Given the description of an element on the screen output the (x, y) to click on. 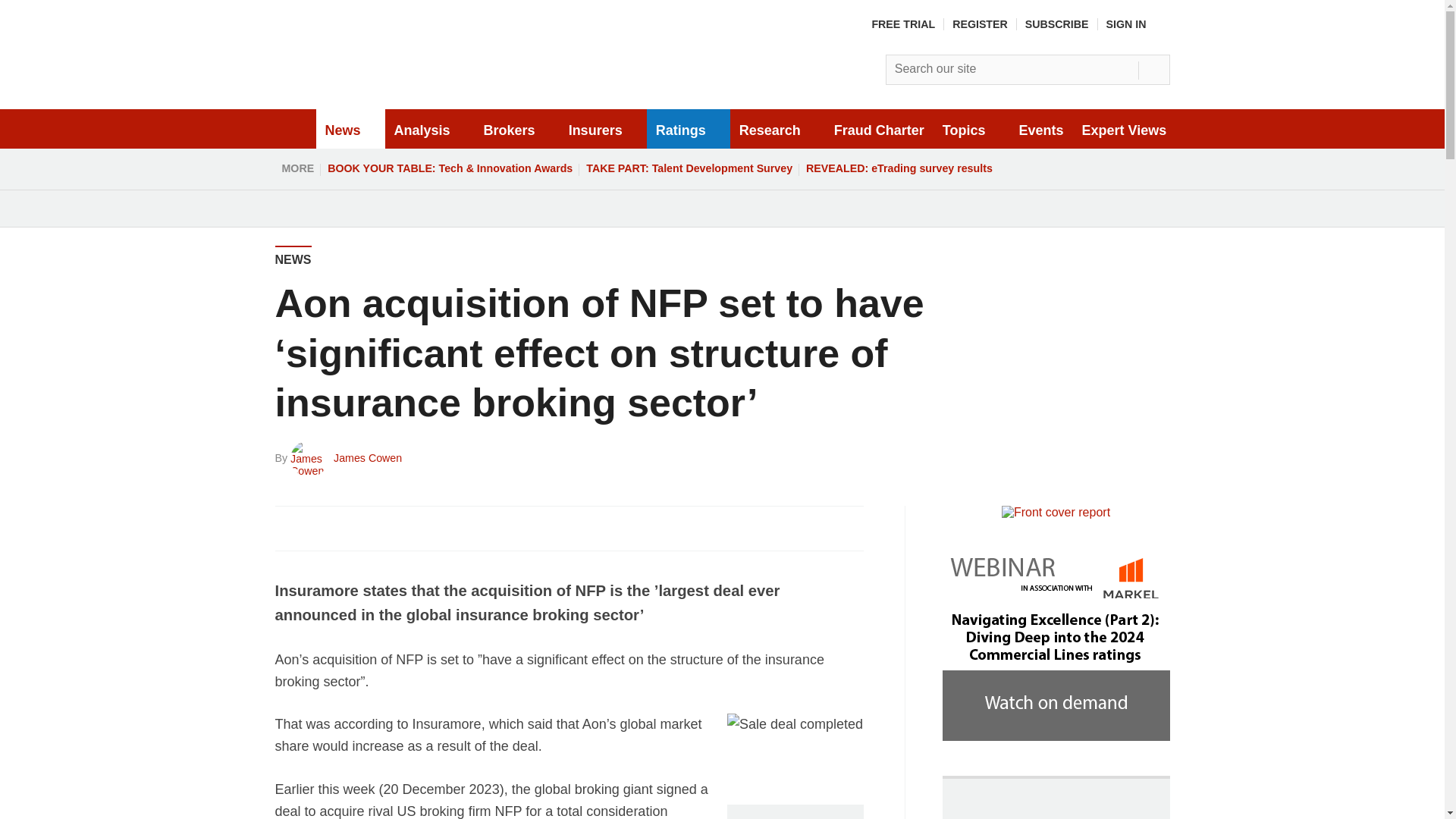
FREE TRIAL (902, 24)
Share this on Facebook (288, 527)
Share this on Twitter (320, 527)
TAKE PART: Talent Development Survey (689, 168)
No comments (840, 536)
SIGN IN (1138, 24)
REGISTER (979, 24)
Share this on Linked in (352, 527)
SEARCH (1153, 69)
REVEALED: eTrading survey results (898, 168)
SUBSCRIBE (1057, 24)
Insert Logo text (393, 90)
Email this article (386, 527)
